Given the description of an element on the screen output the (x, y) to click on. 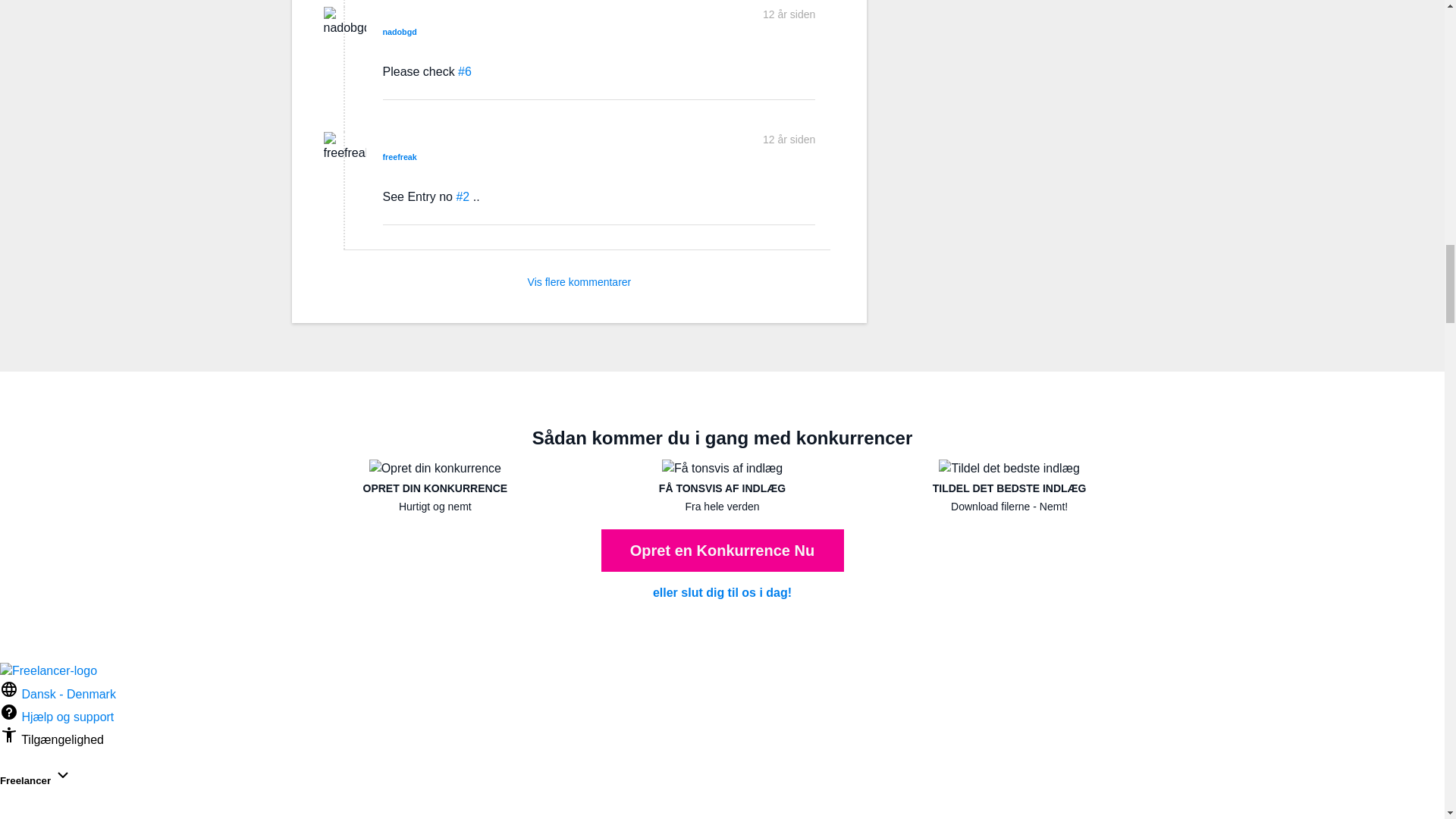
freefreak (398, 156)
eller slut dig til os i dag! (722, 592)
Vis flere kommentarer (579, 289)
nadobgd (398, 31)
Opret en Konkurrence Nu (721, 550)
Dansk - Denmark (58, 694)
